Given the description of an element on the screen output the (x, y) to click on. 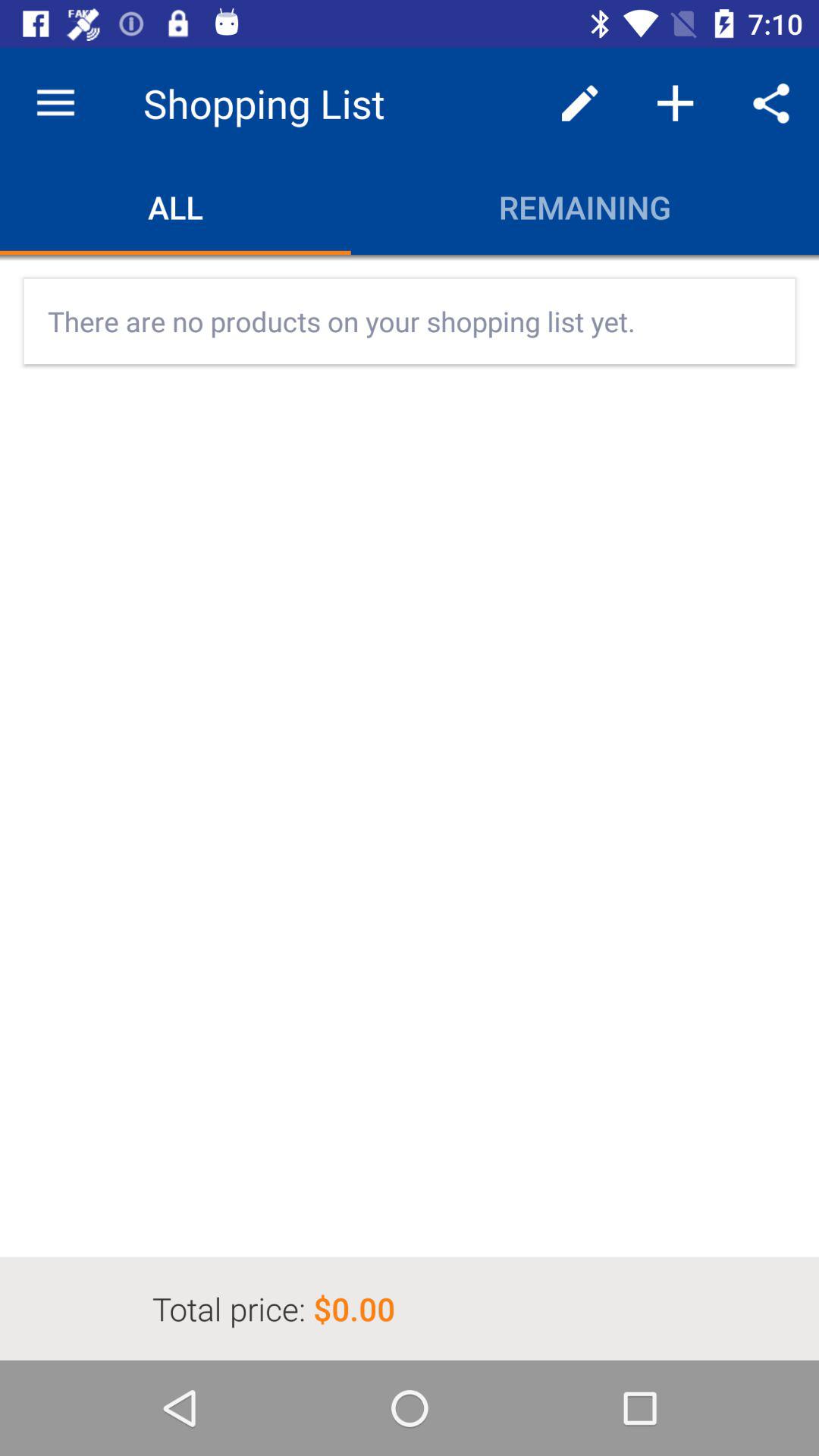
turn on icon next to the shopping list icon (579, 103)
